Given the description of an element on the screen output the (x, y) to click on. 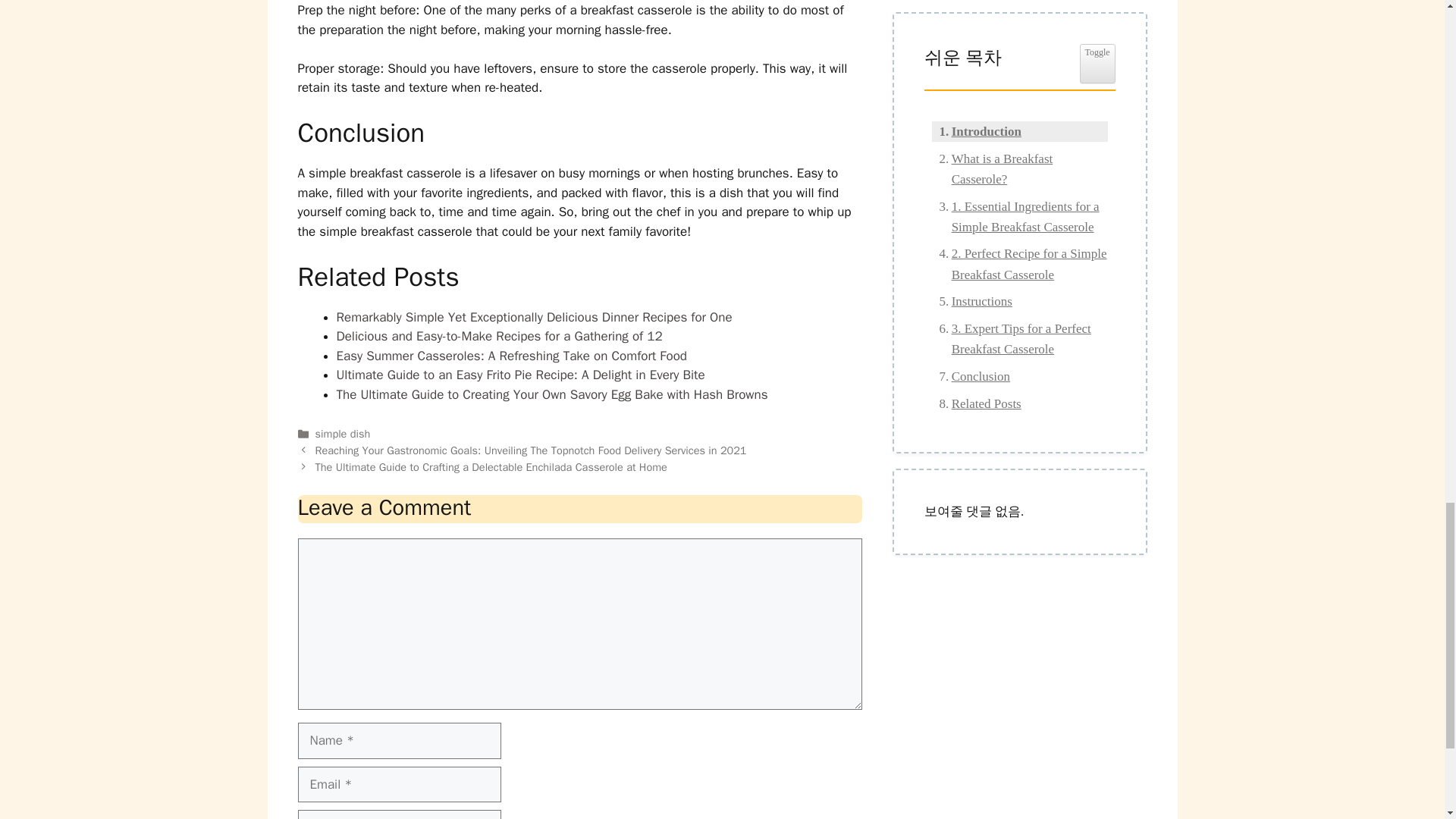
1. Essential Ingredients for a Simple Breakfast Casserole (1018, 216)
Instructions (971, 301)
Introduction (975, 131)
Delicious and Easy-to-Make Recipes for a Gathering of 12 (499, 335)
simple dish (343, 433)
2. Perfect Recipe for a Simple Breakfast Casserole (1018, 263)
